Given the description of an element on the screen output the (x, y) to click on. 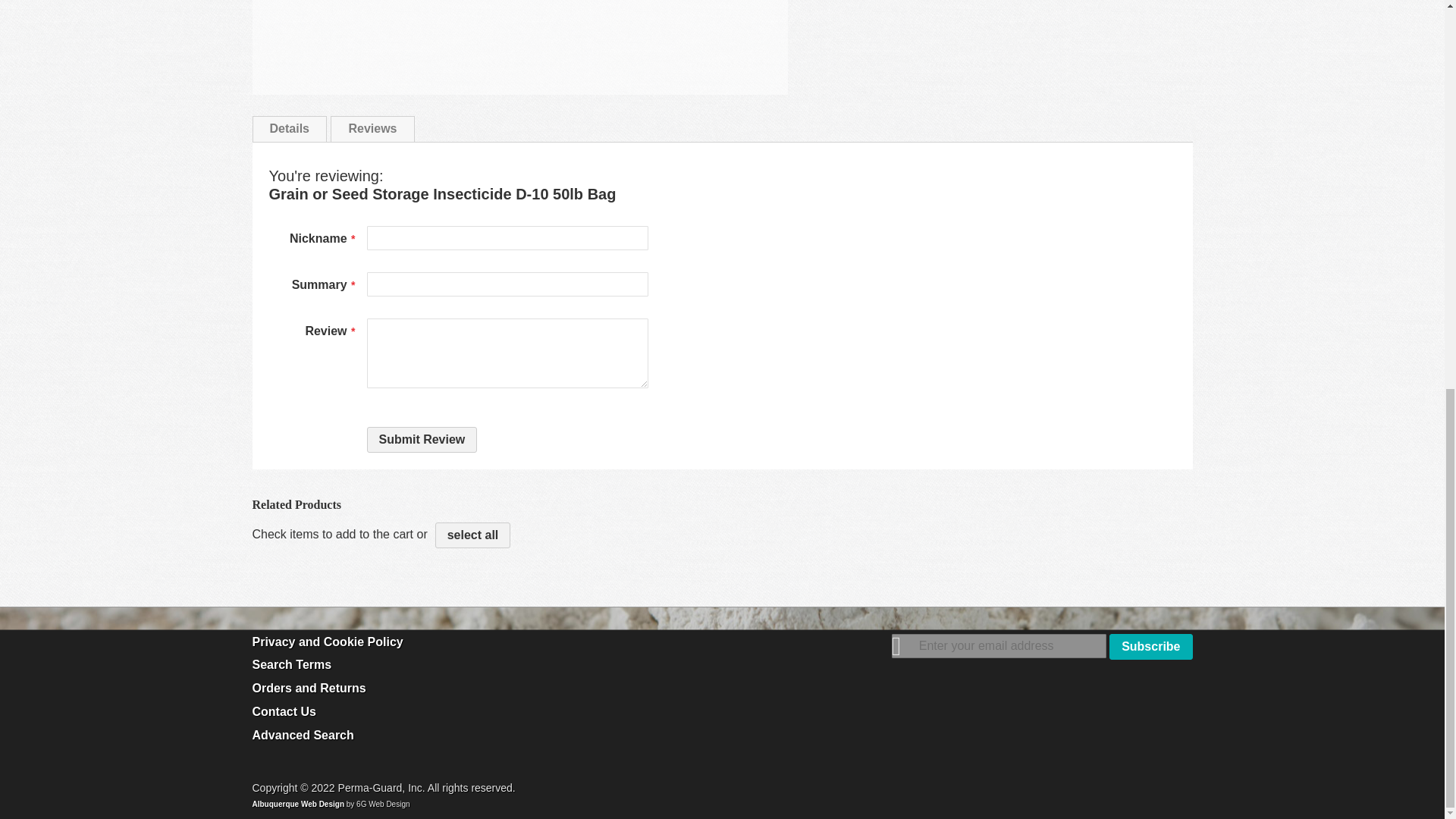
Subscribe (1150, 646)
Details (288, 128)
Reviews (371, 128)
select all (473, 534)
Submit Review (421, 439)
